Given the description of an element on the screen output the (x, y) to click on. 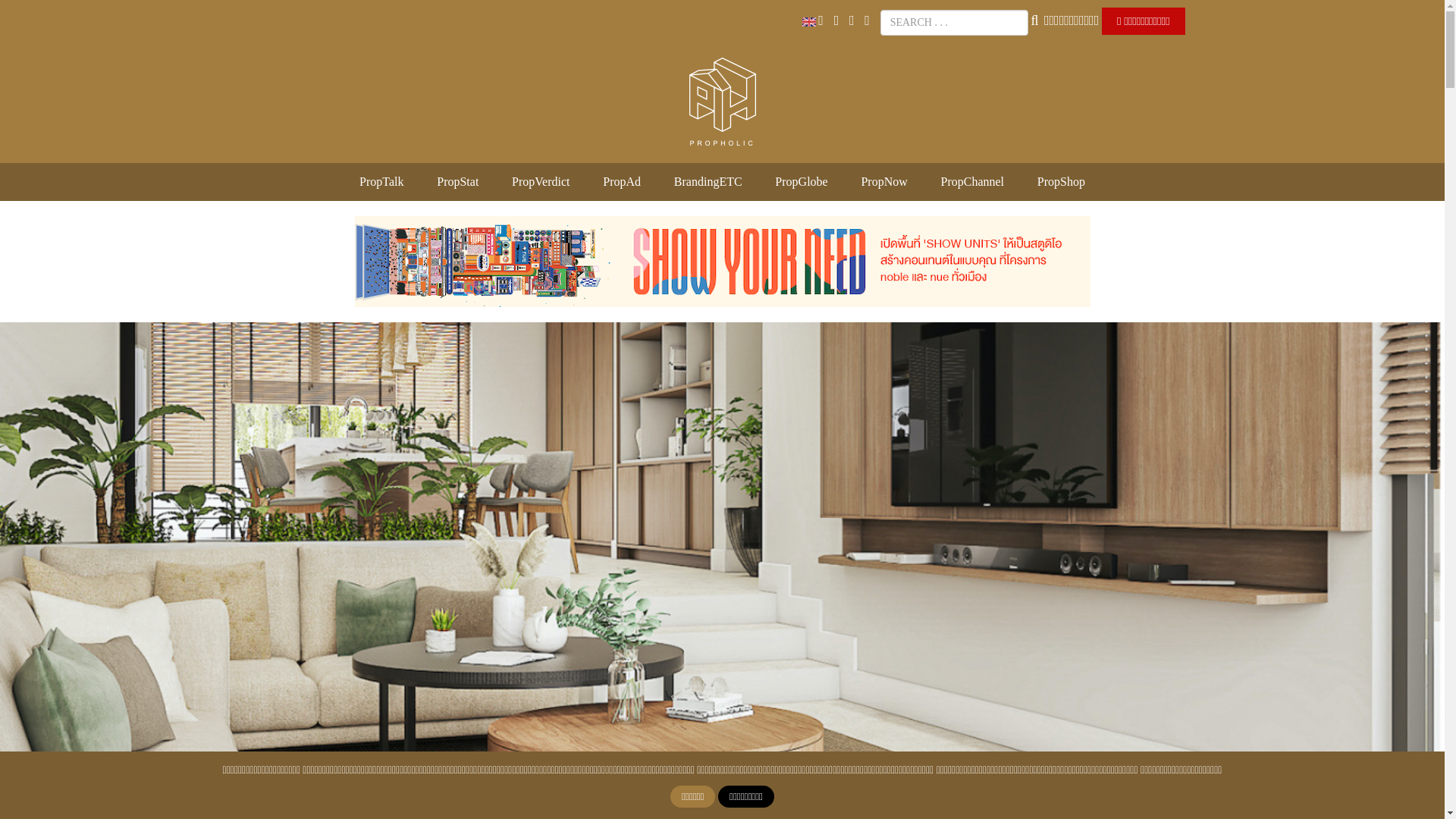
PropChannel (972, 181)
PropNow (883, 181)
PropAd (621, 181)
PropStat (457, 181)
PropVerdict (540, 181)
PropTalk (381, 181)
BrandingETC (708, 181)
PropGlobe (800, 181)
PropShop (1060, 181)
